Given the description of an element on the screen output the (x, y) to click on. 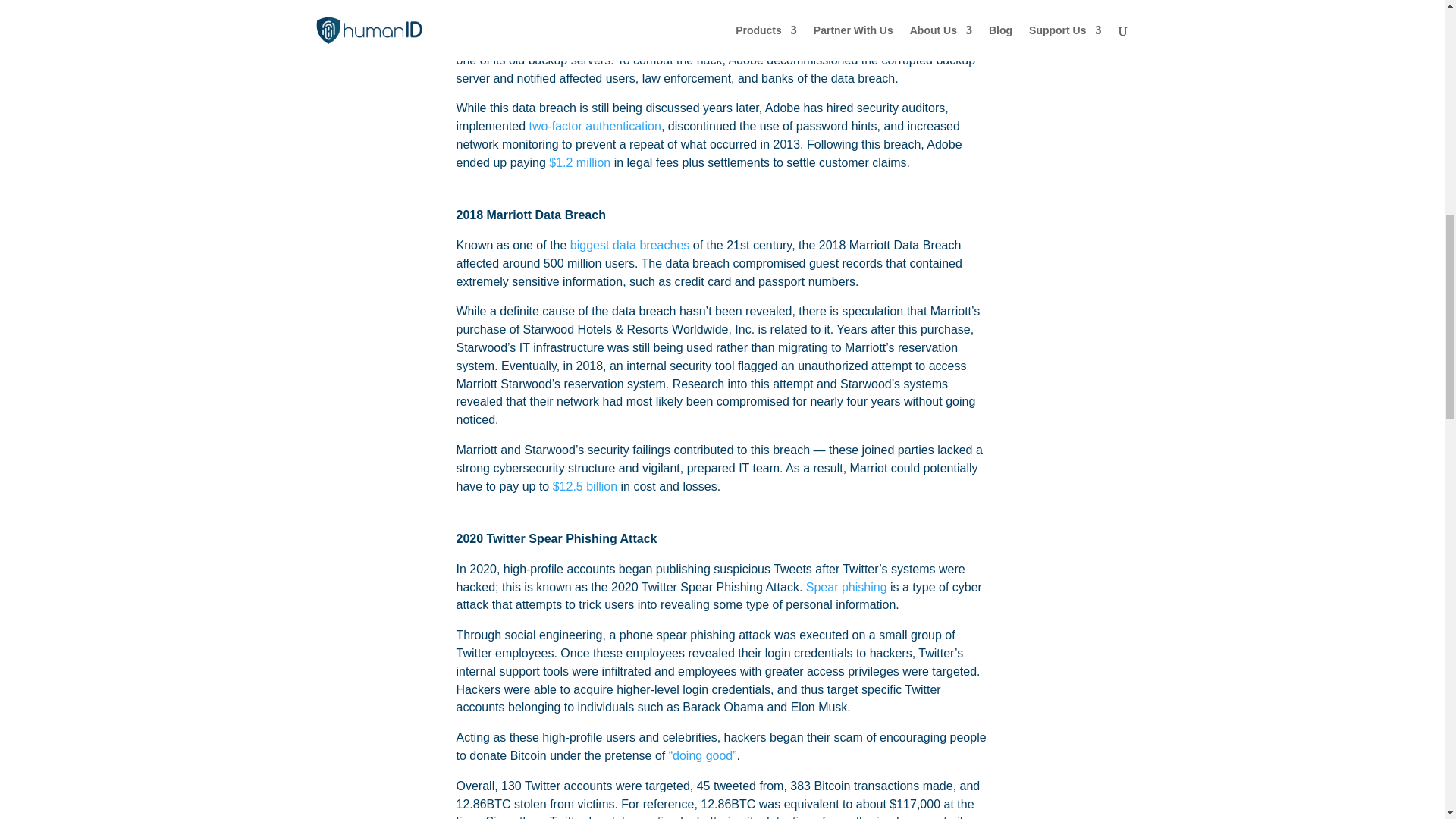
poor security practices and an old encryption system (636, 42)
two-factor authentication (595, 125)
biggest data breaches (629, 245)
